Given the description of an element on the screen output the (x, y) to click on. 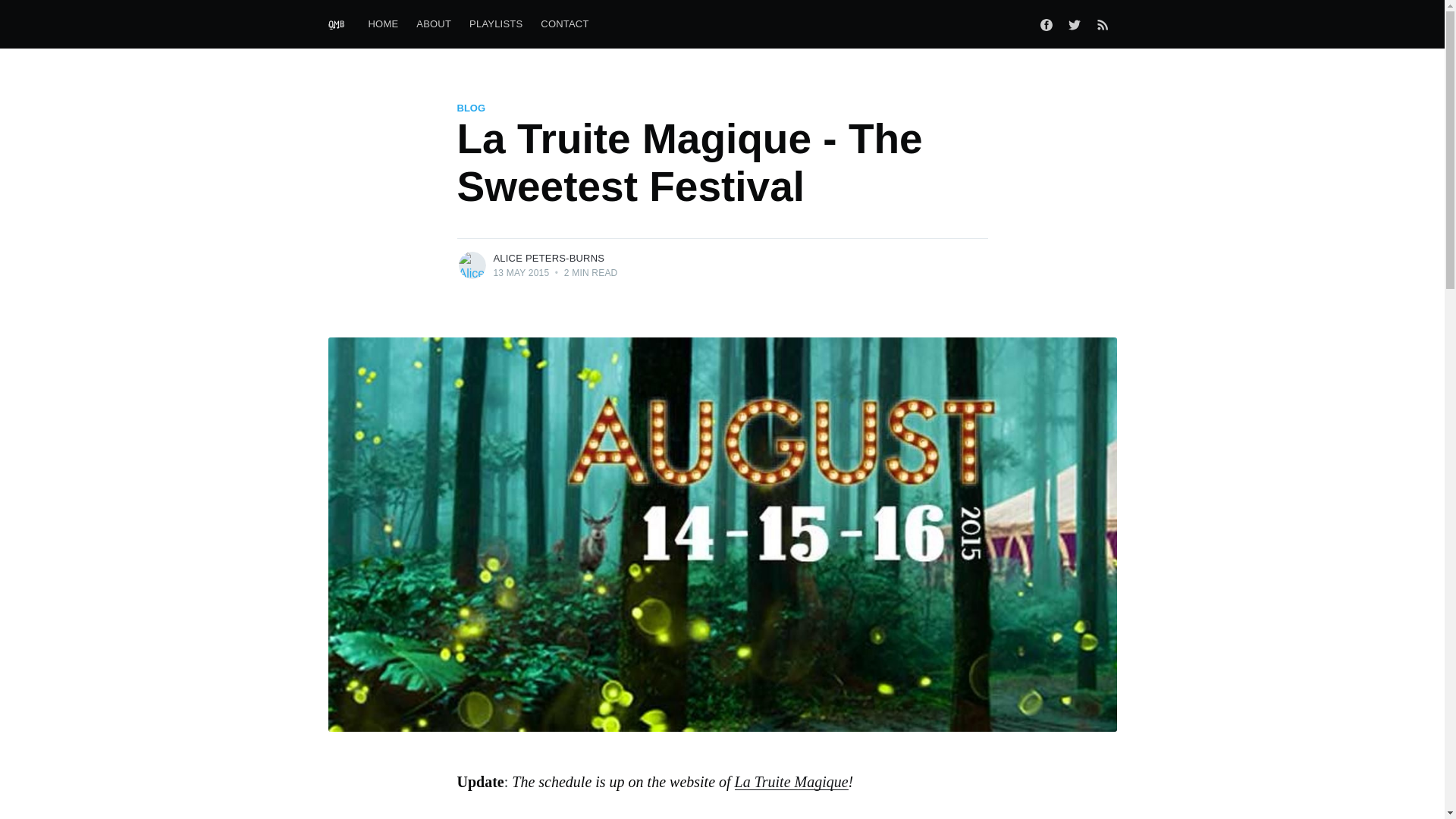
BLOG (470, 108)
ABOUT (433, 24)
HOME (383, 24)
CONTACT (563, 24)
ALICE PETERS-BURNS (548, 257)
La Truite Magique (791, 781)
PLAYLISTS (495, 24)
